Given the description of an element on the screen output the (x, y) to click on. 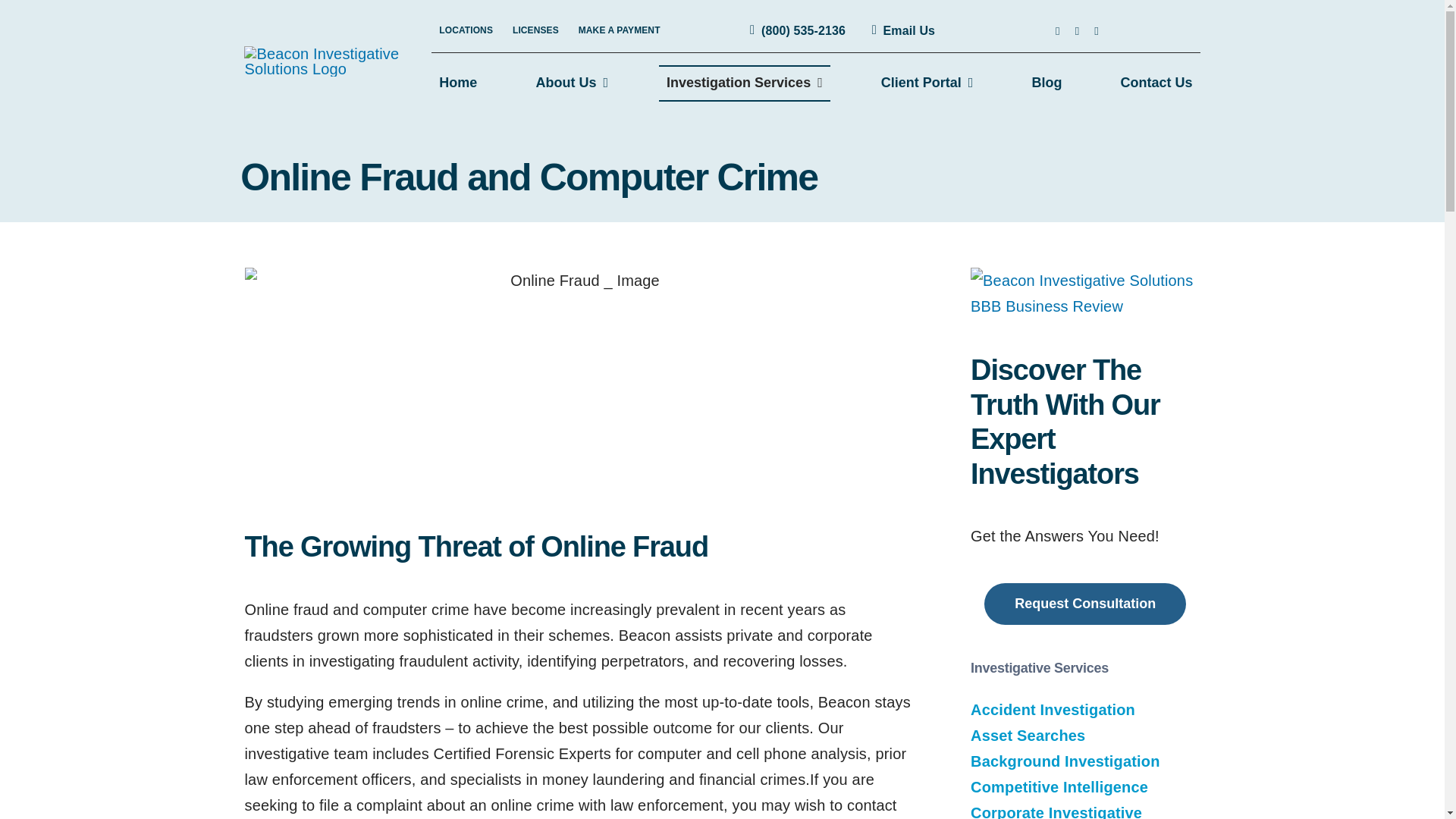
MAKE A PAYMENT (619, 30)
Email Us (899, 30)
Investigation Services (744, 83)
Beacon Investigative Solutions BBB Business Review (1085, 280)
LOCATIONS (465, 30)
LICENSES (535, 30)
Request Consultation (1085, 603)
Home (457, 83)
About Us (571, 83)
